Given the description of an element on the screen output the (x, y) to click on. 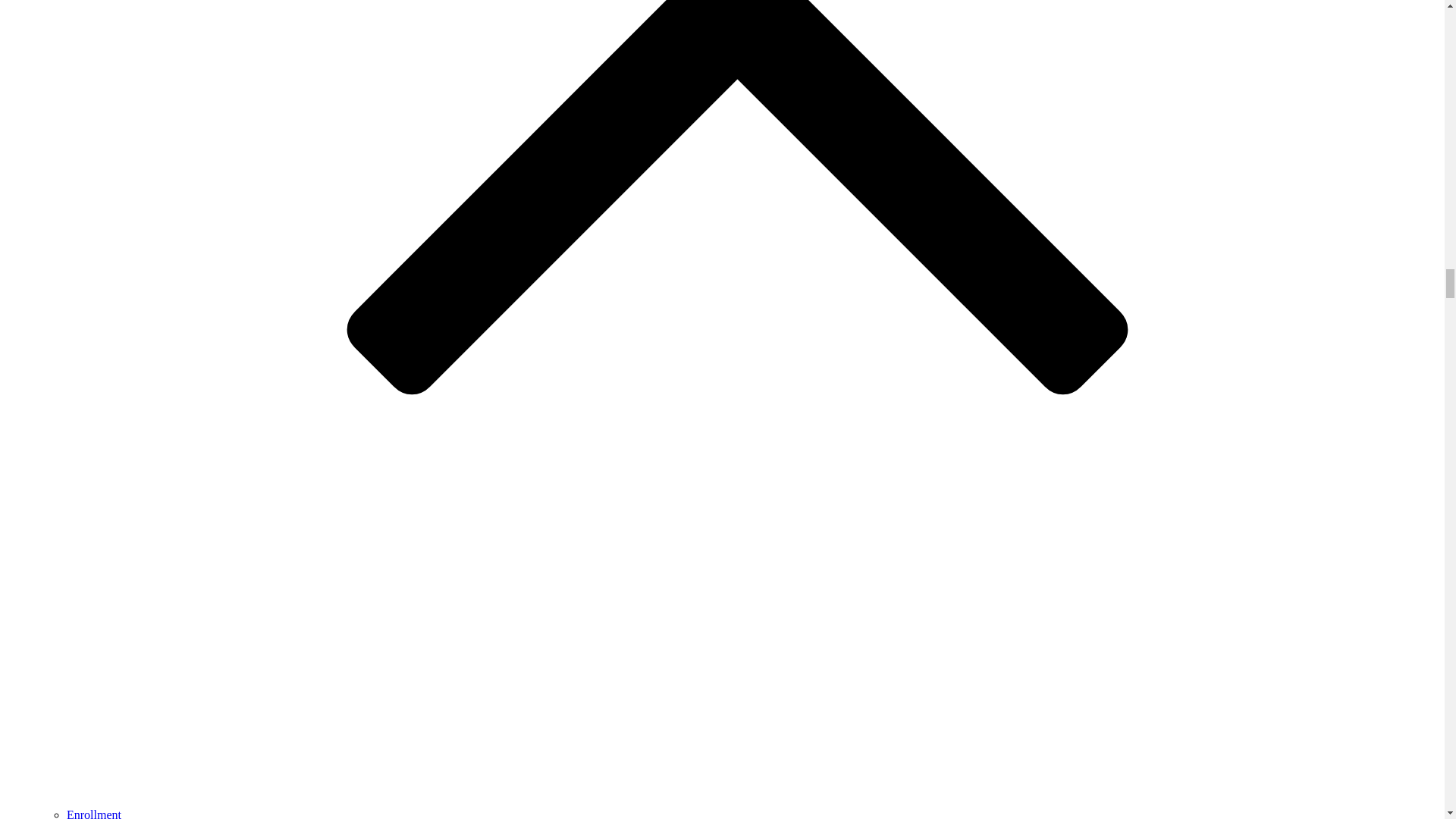
Enrollment (93, 813)
